Given the description of an element on the screen output the (x, y) to click on. 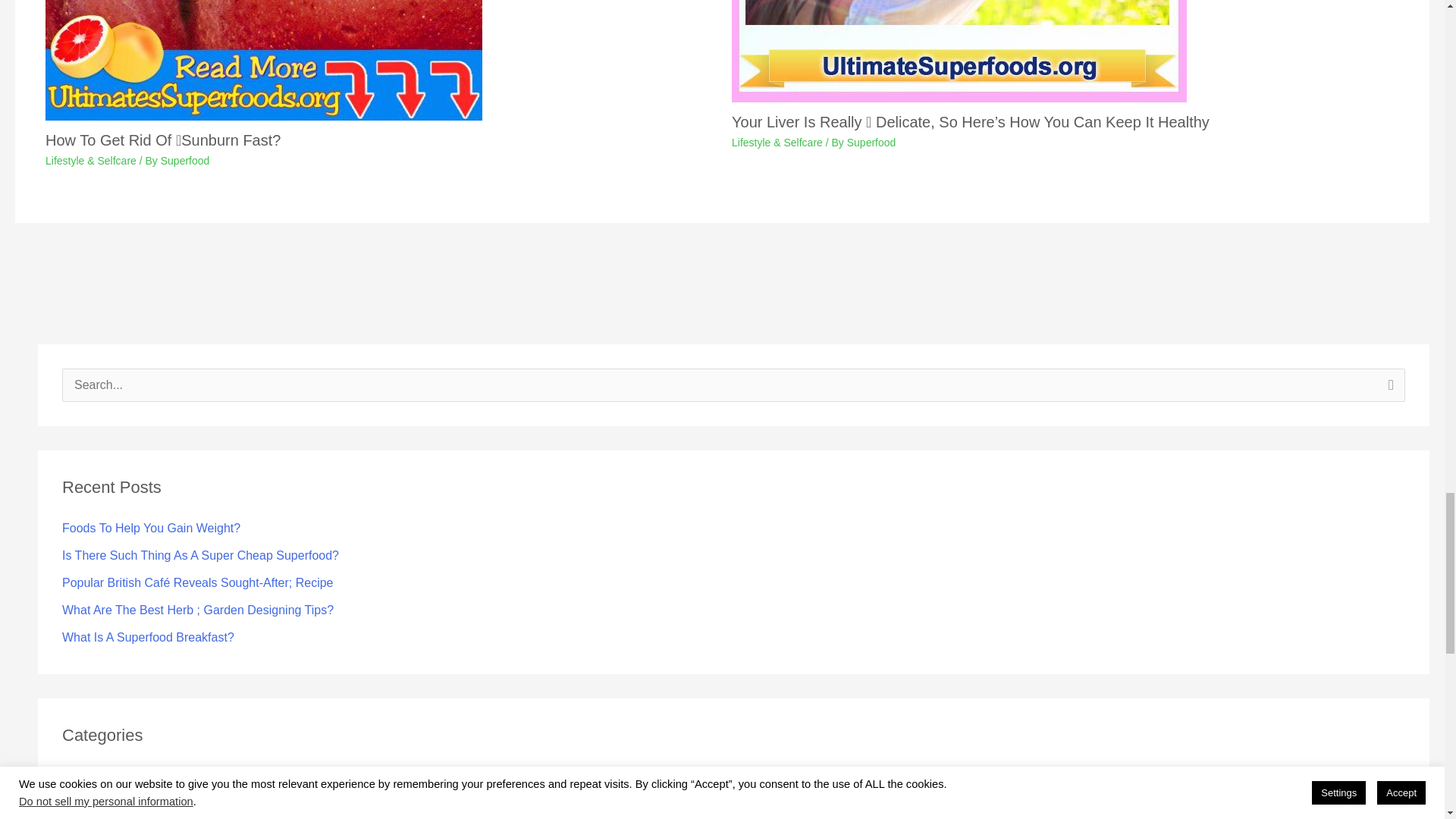
View all posts by Superfood (184, 160)
Superfood (184, 160)
View all posts by Superfood (871, 142)
